Given the description of an element on the screen output the (x, y) to click on. 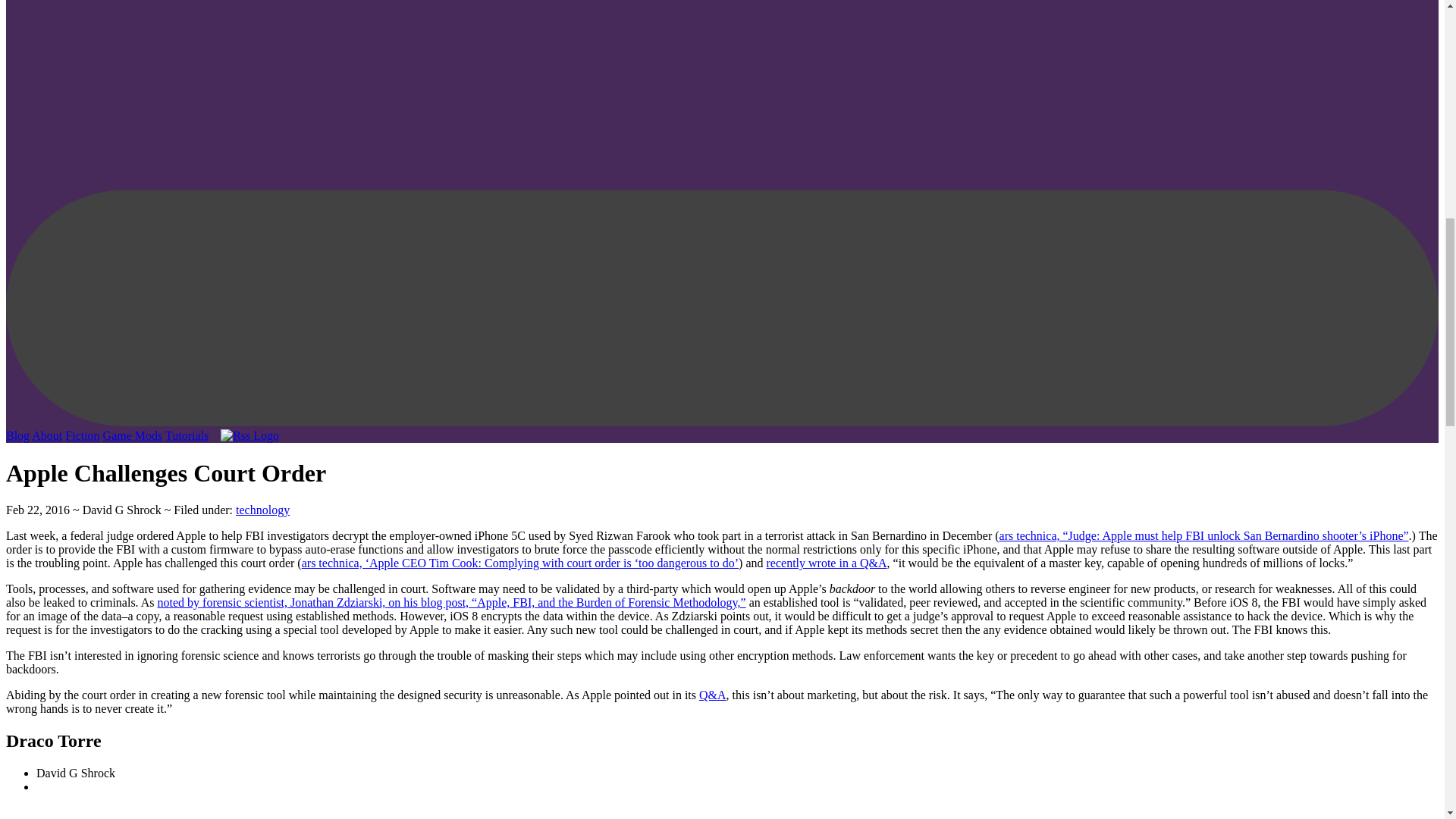
technology (262, 509)
Tutorials (186, 435)
About (47, 435)
Game Mods (133, 435)
Blog (17, 435)
Fiction (82, 435)
subscribe via atom (245, 435)
